Given the description of an element on the screen output the (x, y) to click on. 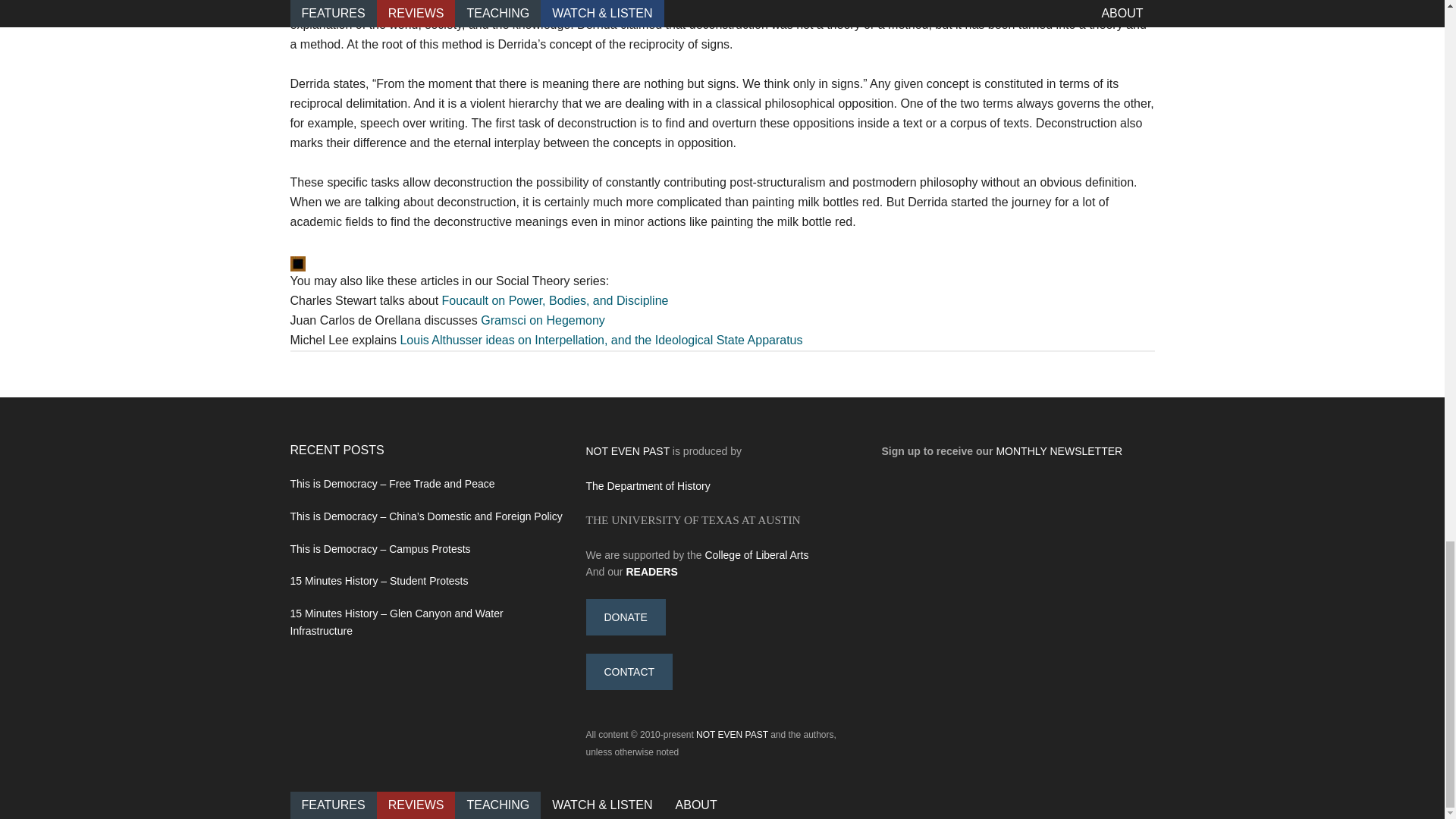
Foucault on Power, Bodies, and Discipline (555, 300)
TEACHING (497, 804)
MONTHLY NEWSLETTER (1058, 451)
THE UNIVERSITY OF TEXAS AT AUSTIN (692, 519)
REVIEWS (416, 804)
FEATURES (332, 804)
College of Liberal Arts (756, 553)
Gramsci on Hegemony (542, 319)
DONATE (625, 616)
